Given the description of an element on the screen output the (x, y) to click on. 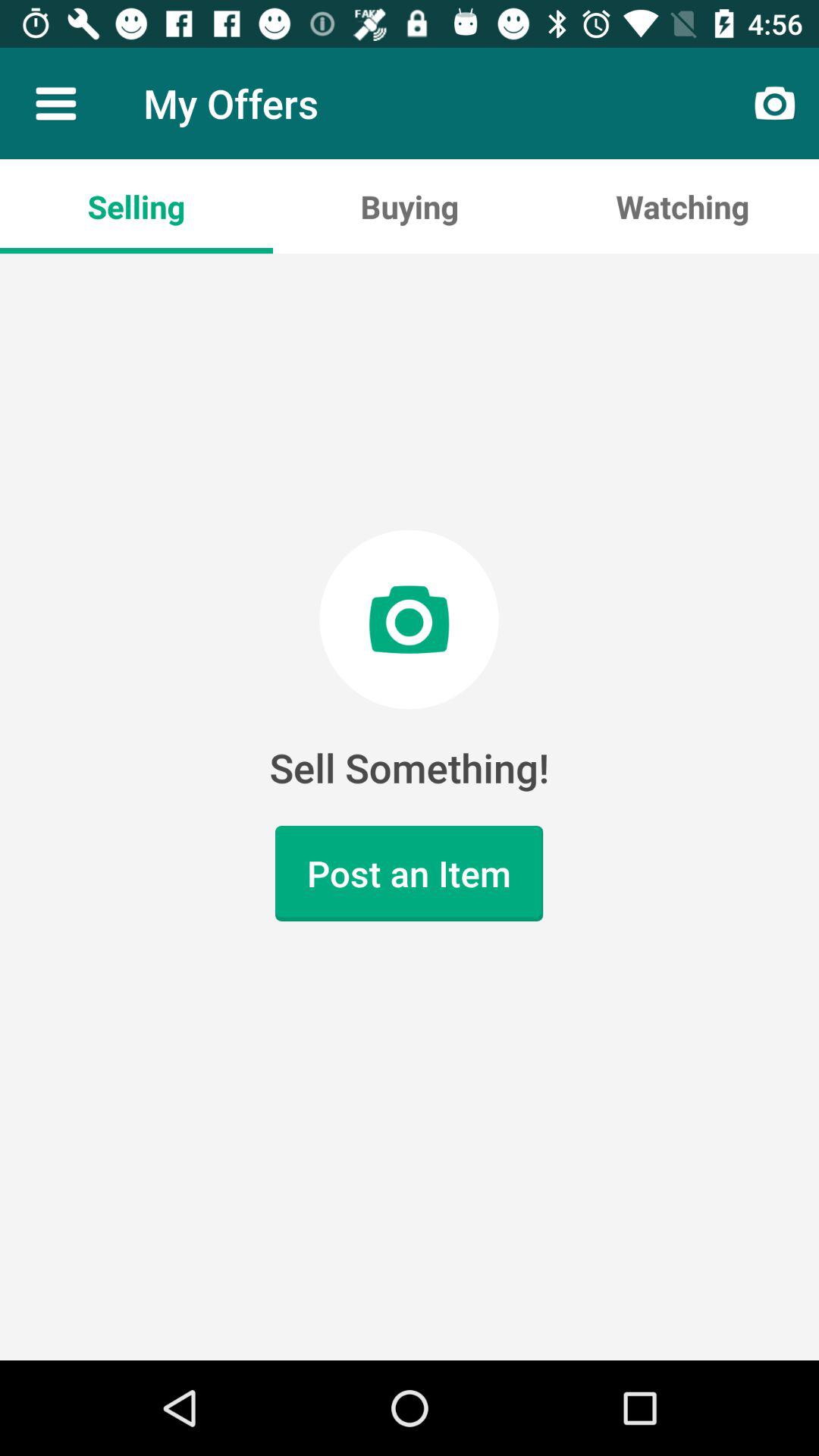
select item below my offers icon (409, 206)
